Given the description of an element on the screen output the (x, y) to click on. 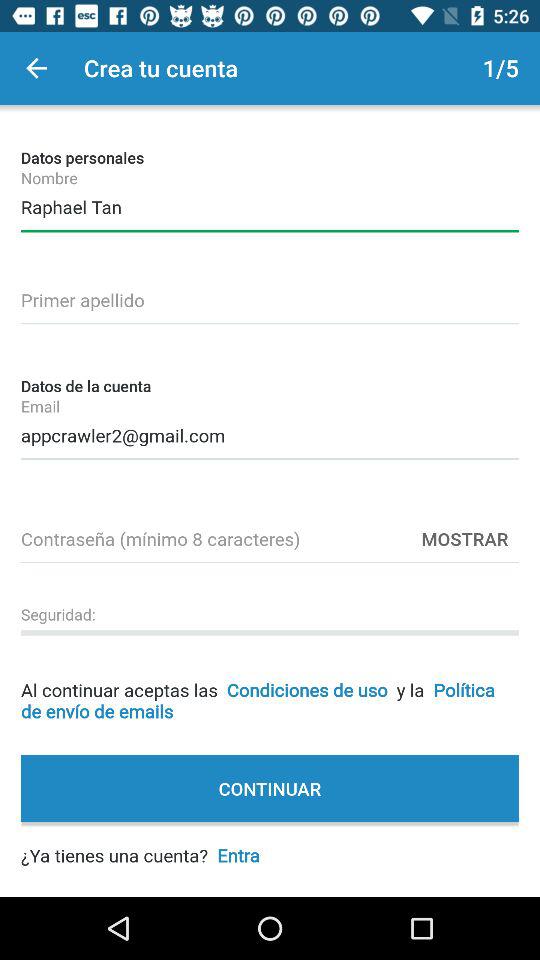
enter password minumum 8 characters (270, 536)
